Given the description of an element on the screen output the (x, y) to click on. 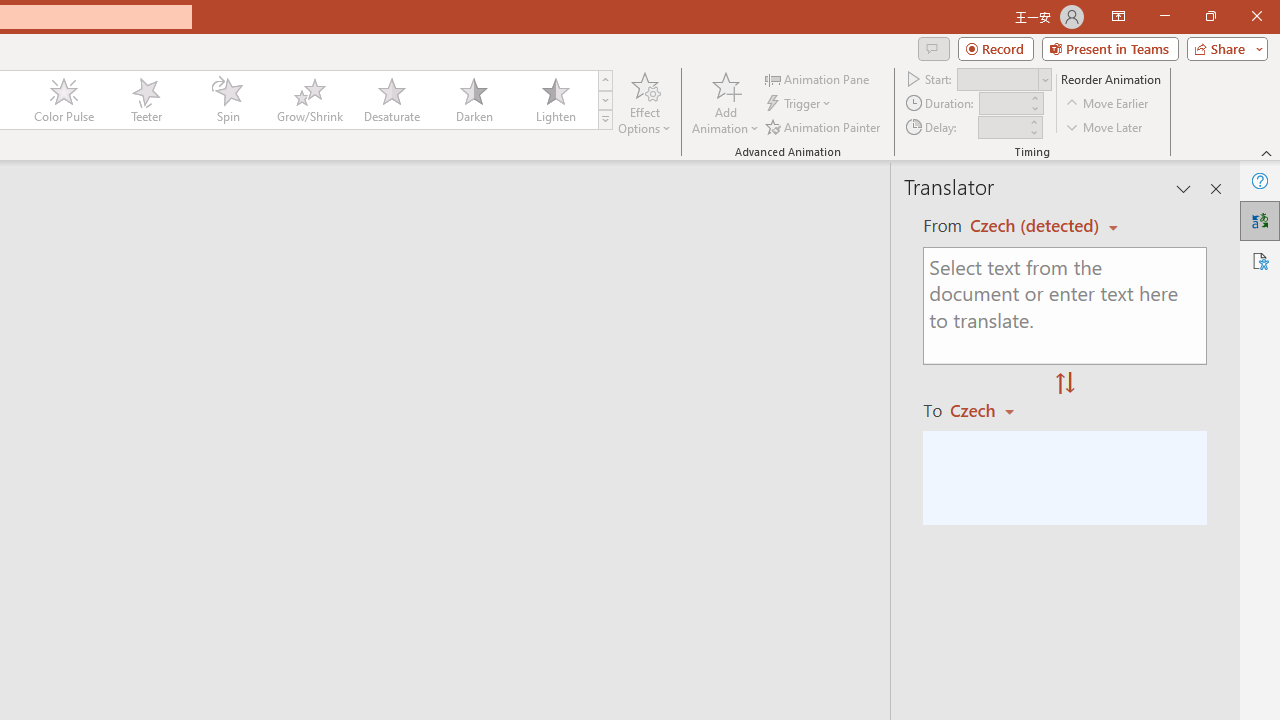
Animation Pane (818, 78)
Desaturate (391, 100)
Czech (detected) (1037, 225)
Effect Options (644, 102)
Task Pane Options (1183, 188)
Lighten (555, 100)
Row up (605, 79)
Accessibility (1260, 260)
More (1033, 121)
